Given the description of an element on the screen output the (x, y) to click on. 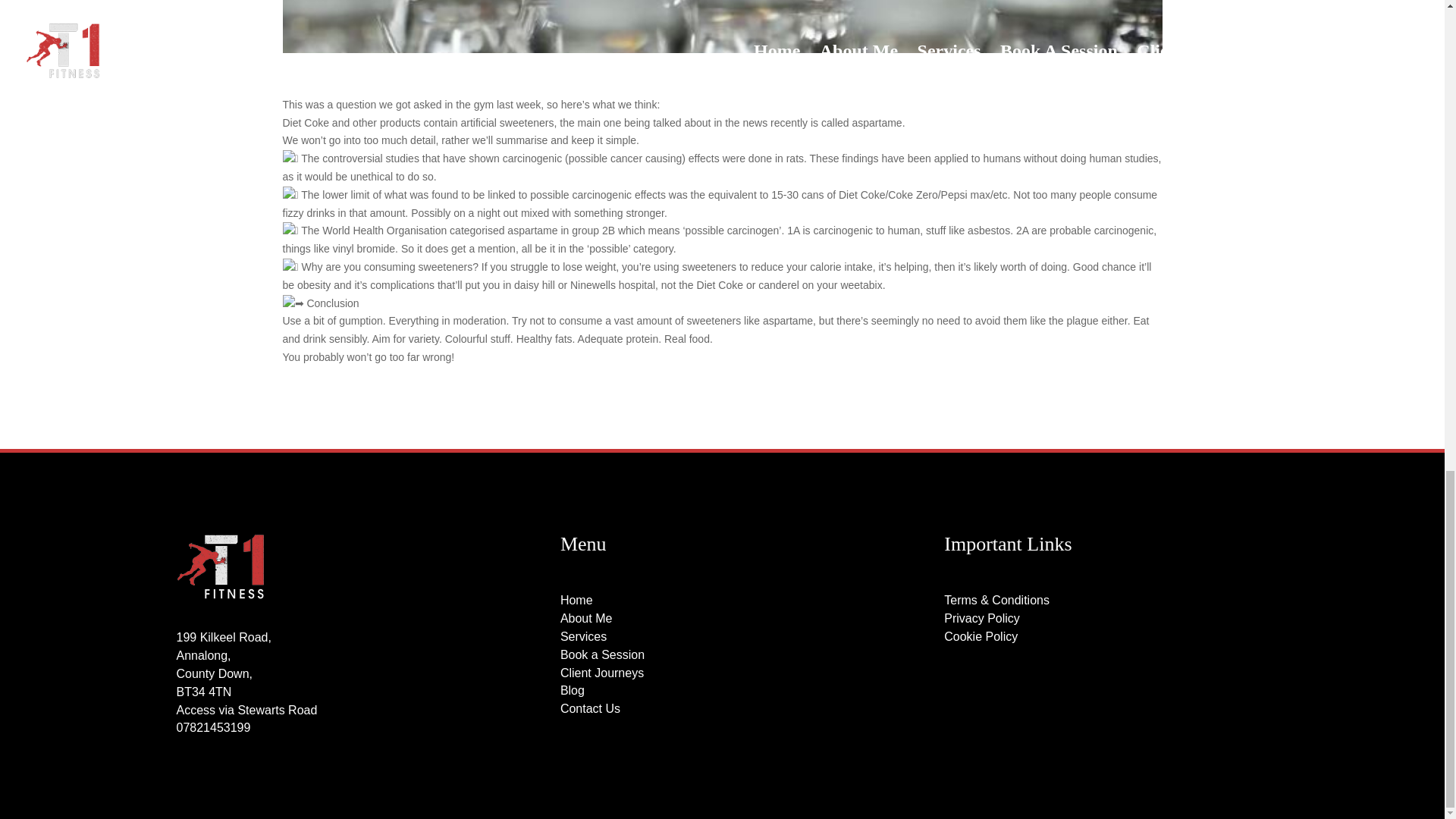
Services (583, 635)
placeholder-blog (721, 26)
Contact Us (590, 707)
Home (576, 599)
T1logo (219, 566)
About Me (585, 617)
Book a Session (602, 654)
Client Journeys (601, 672)
Blog (572, 689)
